Given the description of an element on the screen output the (x, y) to click on. 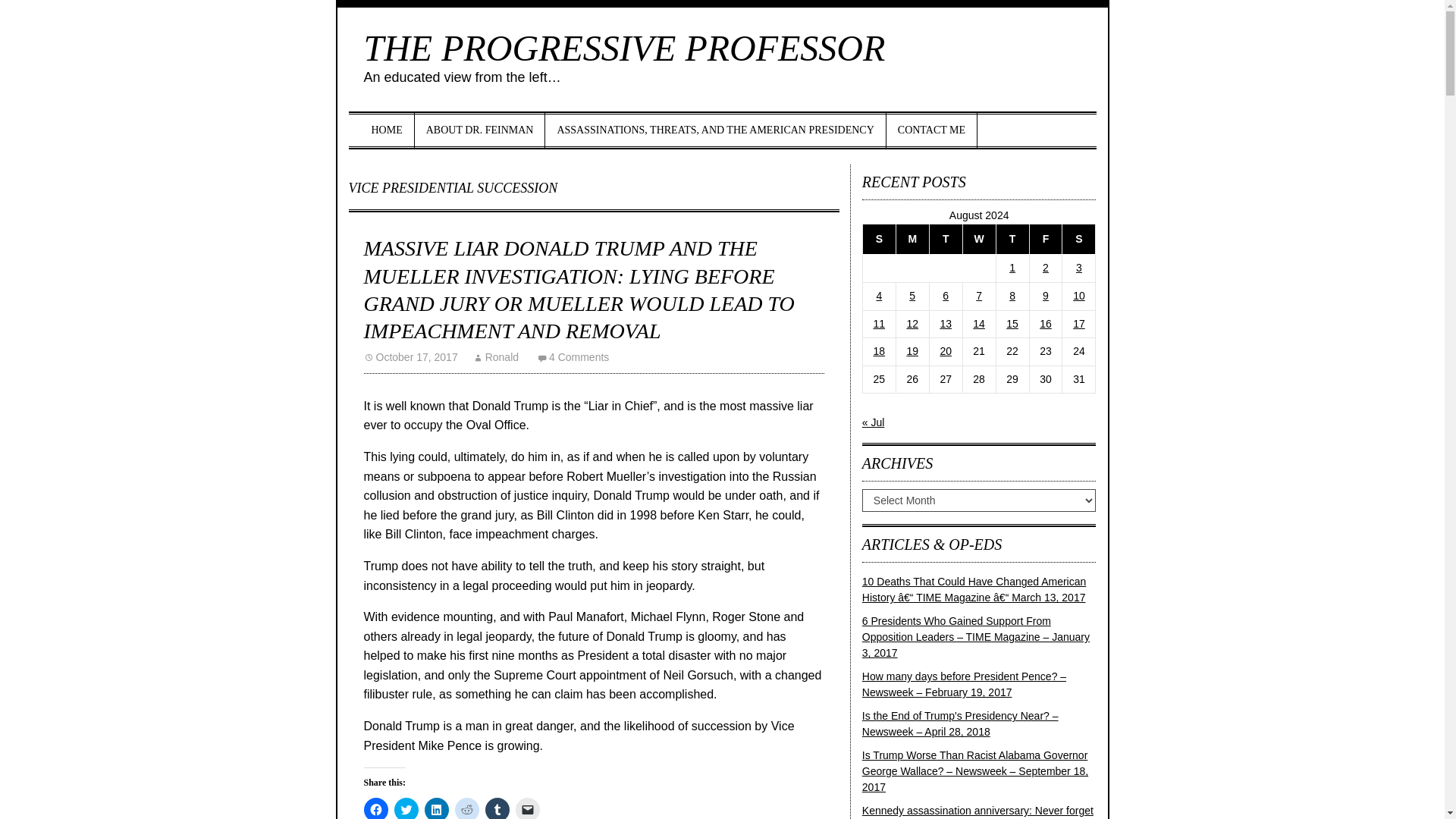
3:07 pm (411, 357)
ASSASSINATIONS, THREATS, AND THE AMERICAN PRESIDENCY (714, 130)
THE PROGRESSIVE PROFESSOR (624, 47)
CONTACT ME (931, 130)
Click to email a link to a friend (527, 808)
Assassinations, Threats, and the American Presidency (714, 130)
About Dr. Feinman (480, 130)
Click to share on LinkedIn (436, 808)
HOME (386, 130)
